Given the description of an element on the screen output the (x, y) to click on. 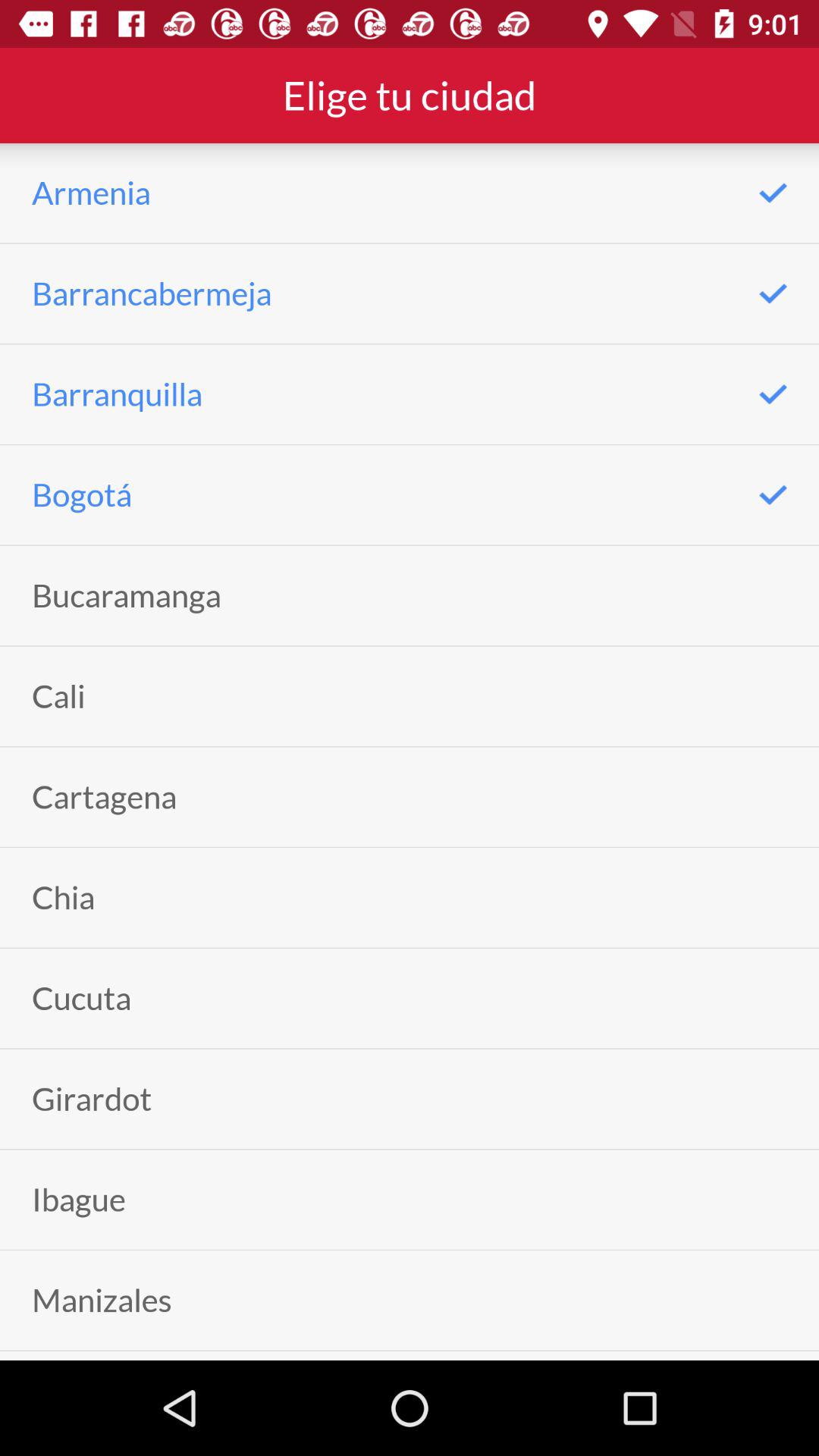
press the icon above barranquilla icon (151, 293)
